Given the description of an element on the screen output the (x, y) to click on. 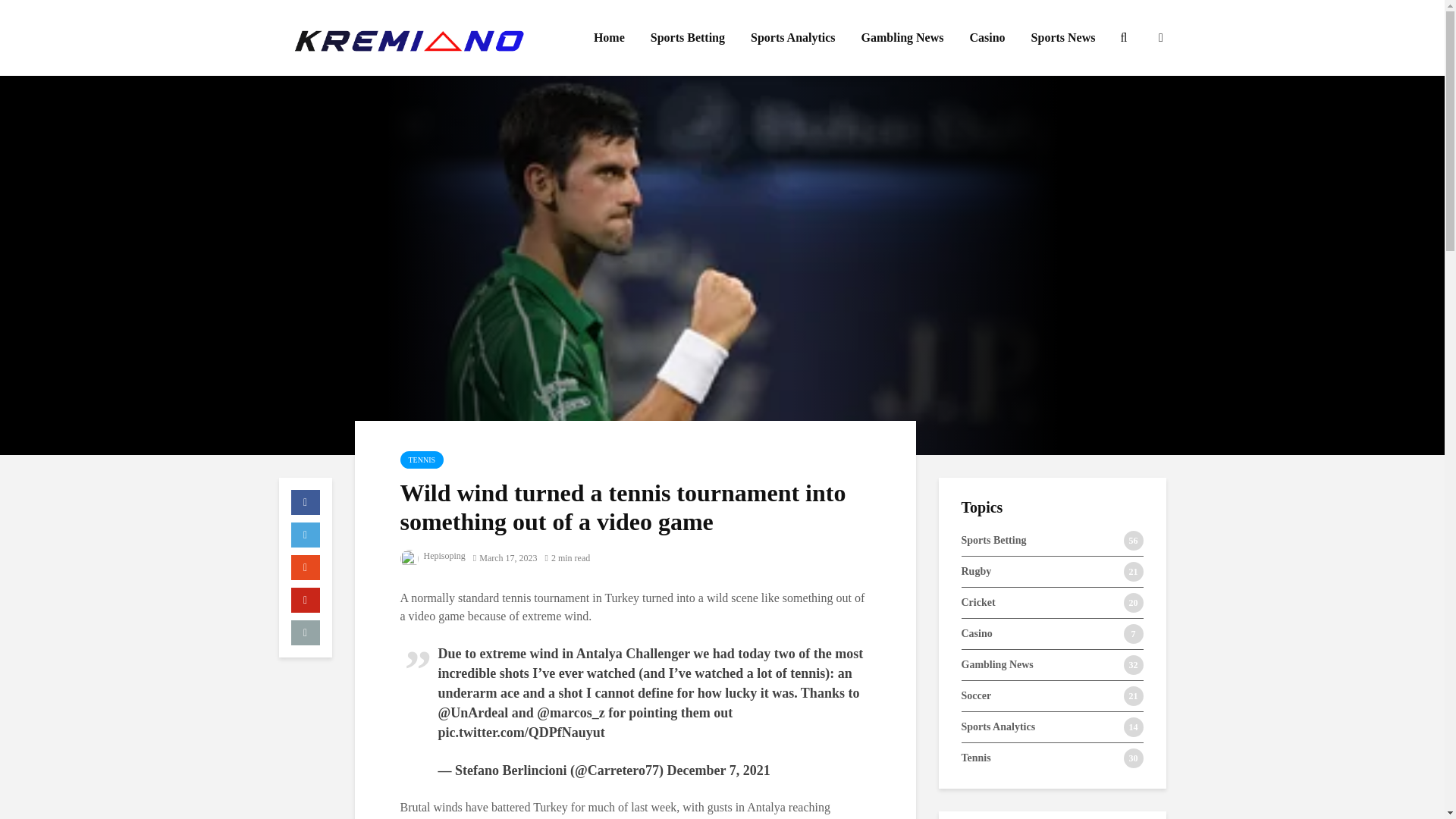
Home (609, 37)
Casino (987, 37)
Sports Analytics (793, 37)
Gambling News (902, 37)
Sports News (1063, 37)
TENNIS (422, 459)
Sports Betting (687, 37)
Hepisoping (432, 555)
